Given the description of an element on the screen output the (x, y) to click on. 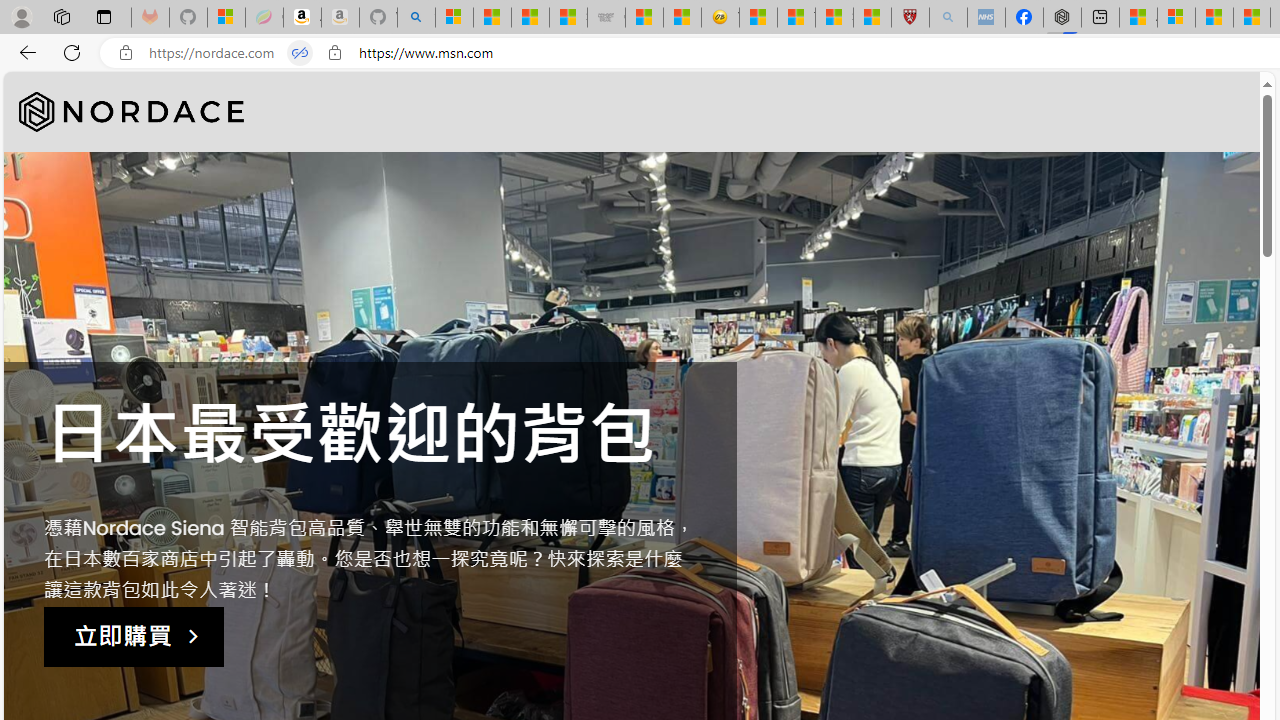
Recipes - MSN (757, 17)
